Given the description of an element on the screen output the (x, y) to click on. 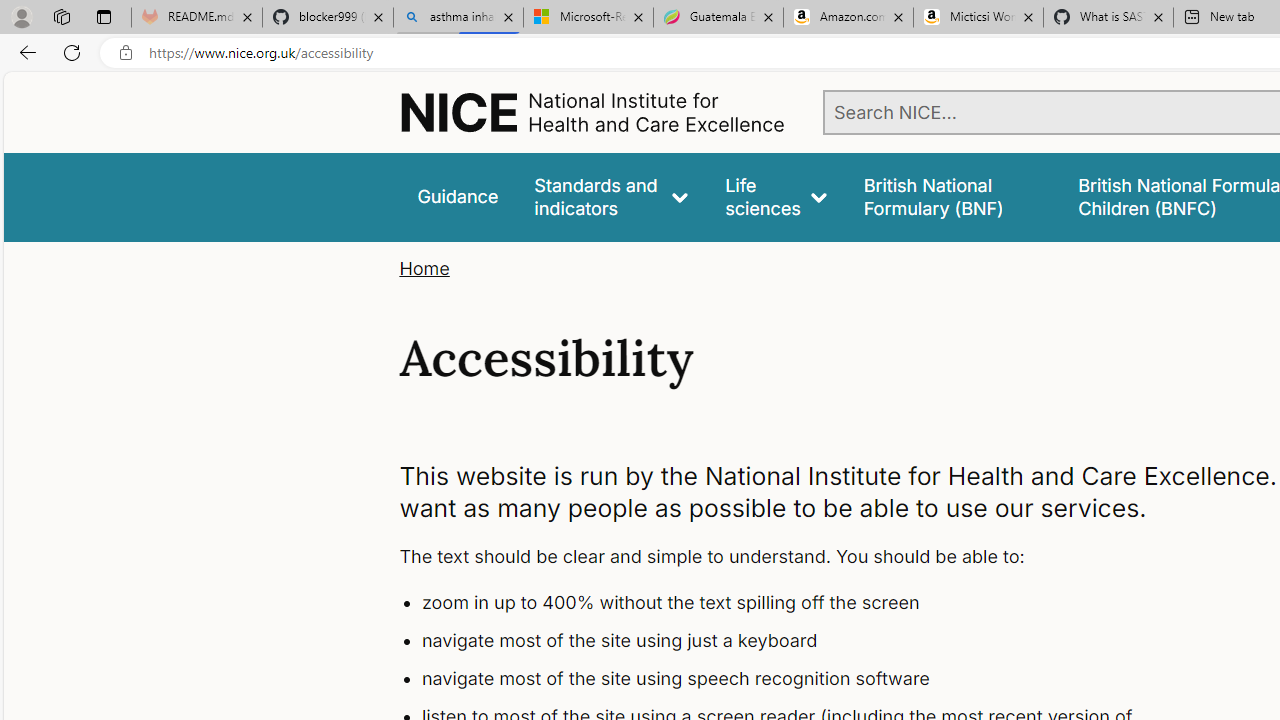
navigate most of the site using just a keyboard (796, 641)
navigate most of the site using speech recognition software (796, 678)
zoom in up to 400% without the text spilling off the screen (796, 603)
Guidance (458, 196)
Life sciences (776, 196)
